Given the description of an element on the screen output the (x, y) to click on. 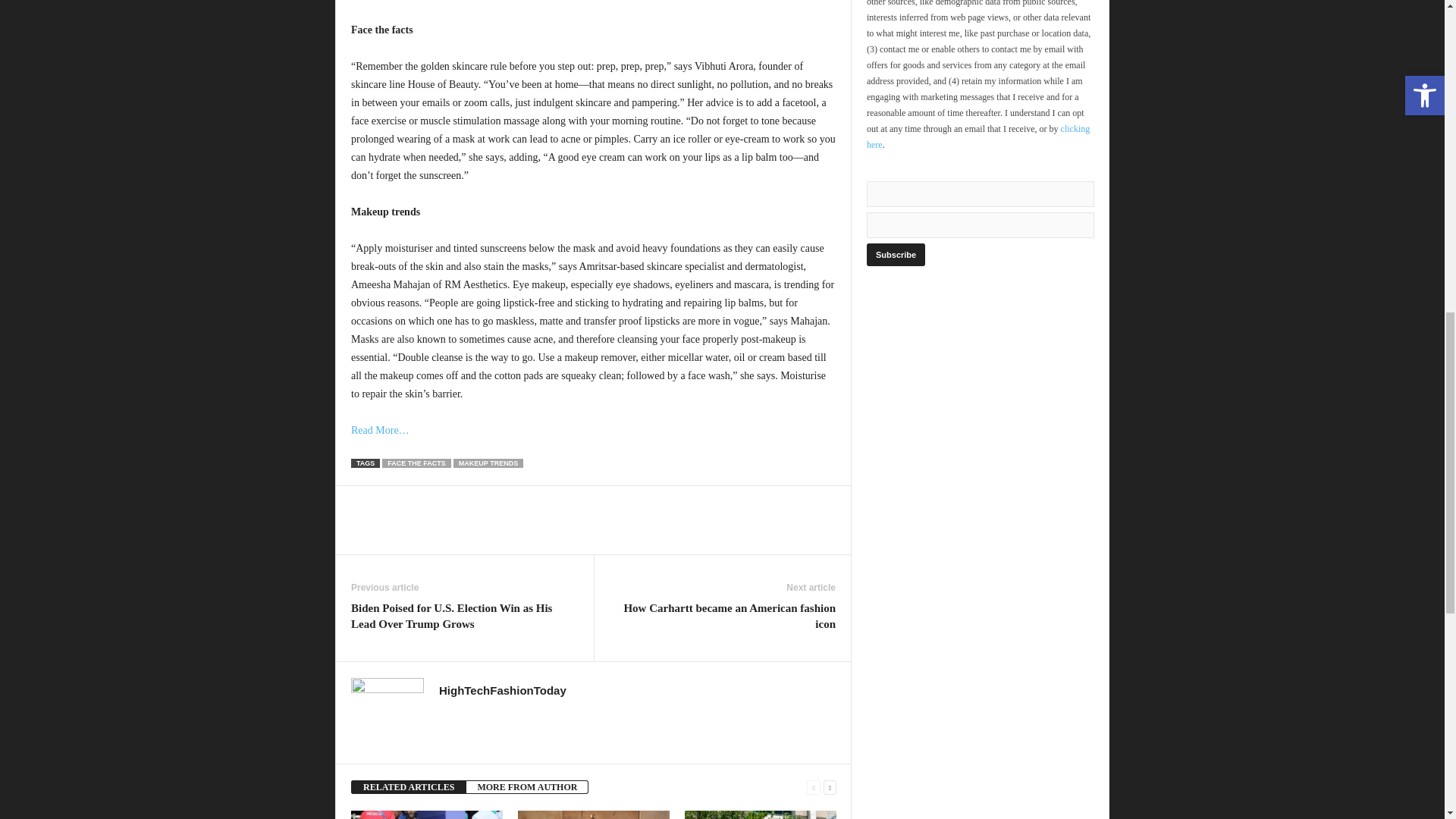
Subscribe (895, 254)
Blake Lively Announces New Hair-Care Brand at Target (593, 814)
